Given the description of an element on the screen output the (x, y) to click on. 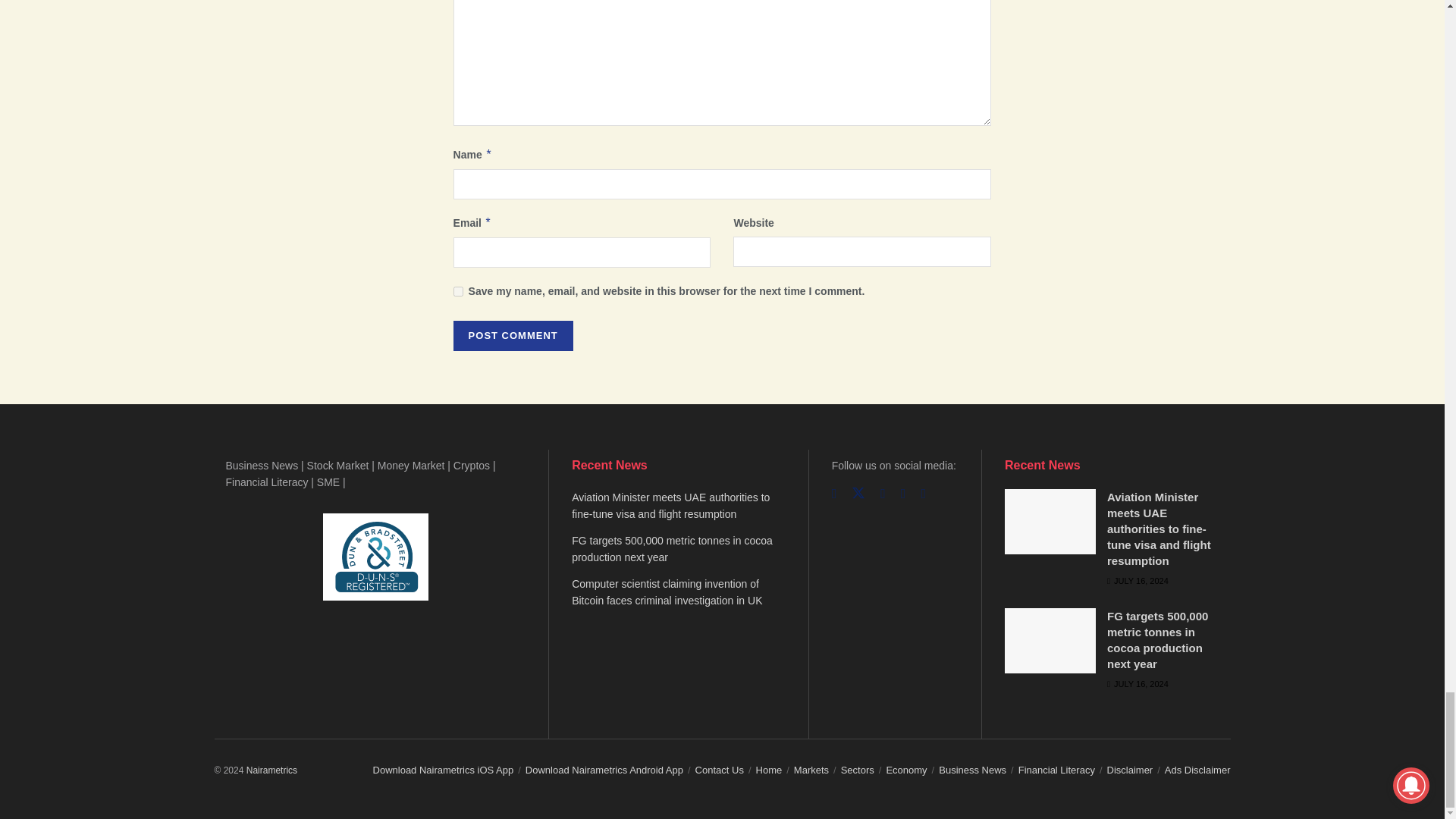
yes (457, 291)
Post Comment (512, 336)
Nairametrics (271, 769)
